Given the description of an element on the screen output the (x, y) to click on. 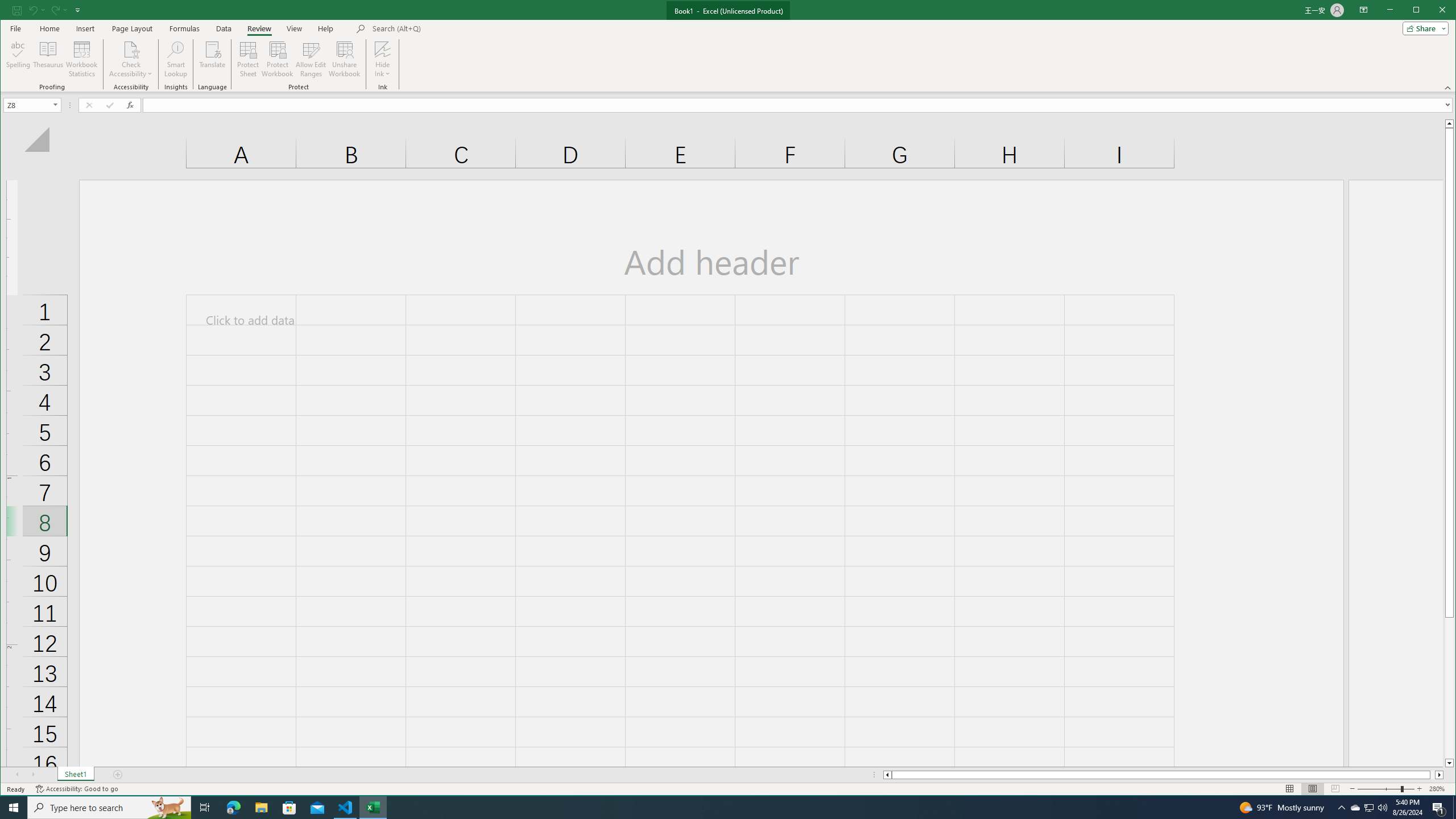
Action Center, 1 new notification (1368, 807)
Visual Studio Code - 1 running window (1439, 807)
